Given the description of an element on the screen output the (x, y) to click on. 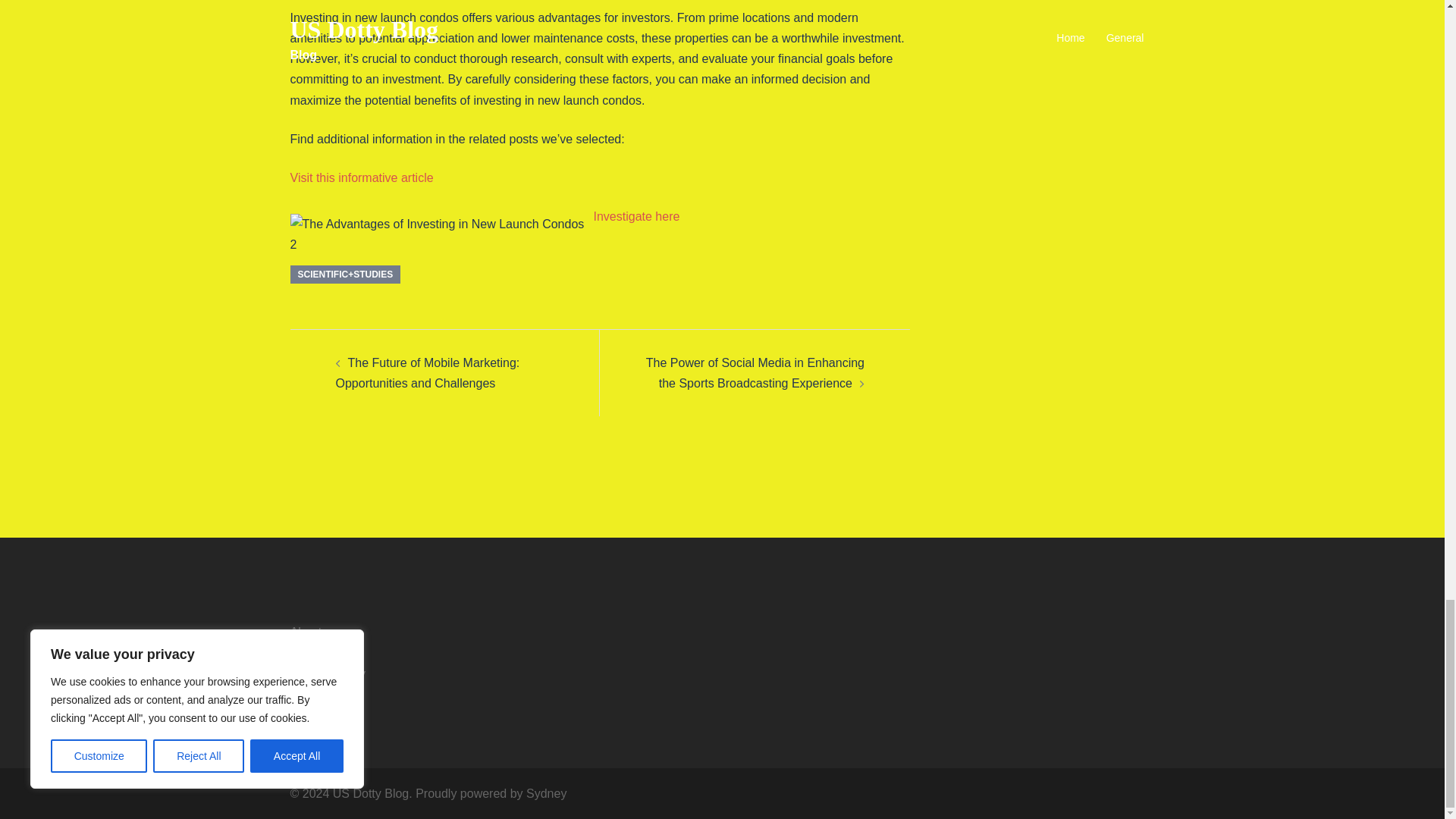
Investigate here (635, 215)
Visit this informative article (360, 177)
The Future of Mobile Marketing: Opportunities and Challenges (426, 372)
